Given the description of an element on the screen output the (x, y) to click on. 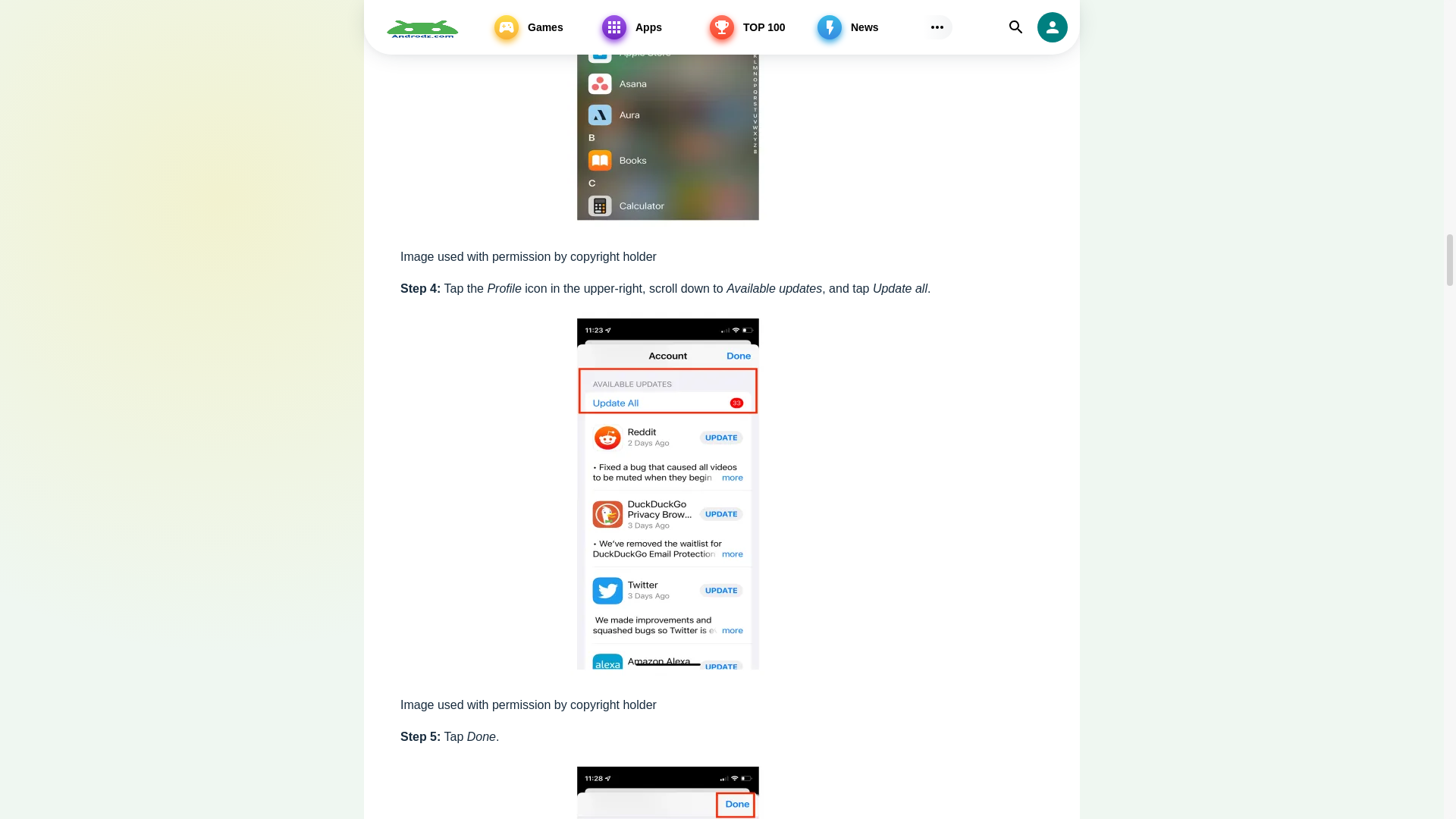
iPhone Overheating? 10 Things to Try Before Calling Apple 5 (673, 789)
iPhone Overheating? 10 Things to Try Before Calling Apple 3 (673, 113)
